Given the description of an element on the screen output the (x, y) to click on. 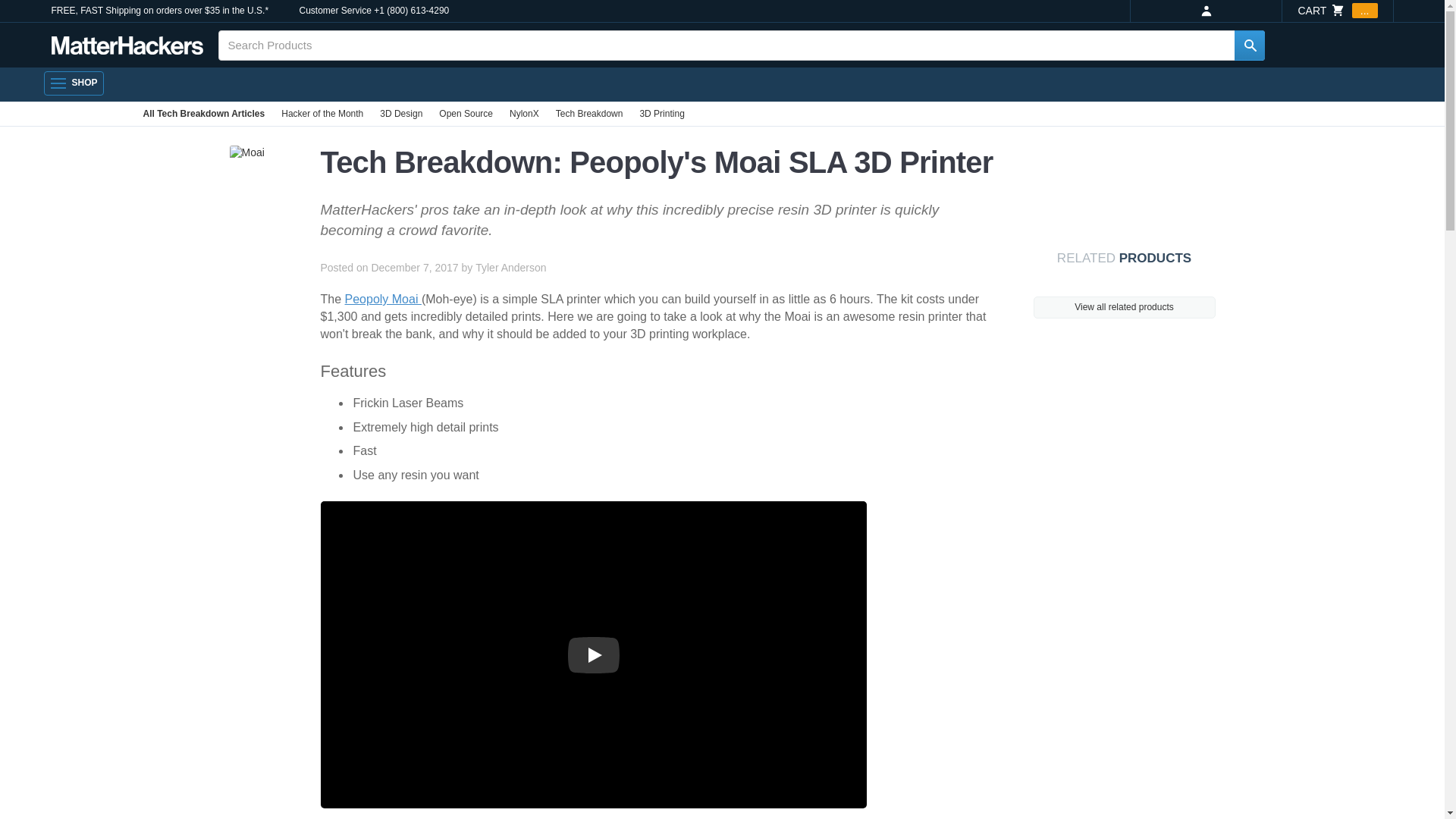
MatterHackers (126, 45)
Customer Service (334, 10)
Moai (245, 152)
CART ... (1337, 11)
SHOP (73, 83)
